Given the description of an element on the screen output the (x, y) to click on. 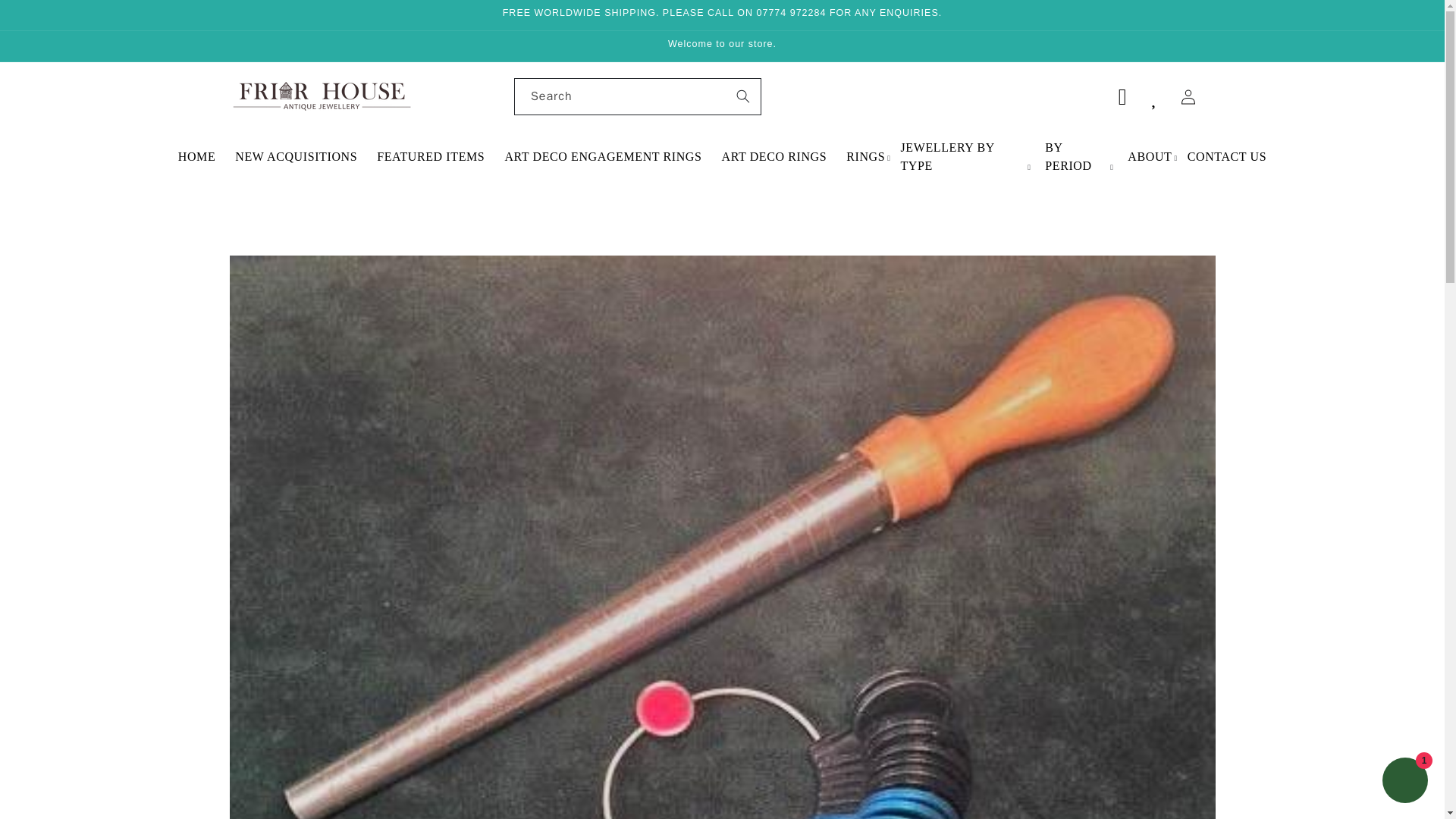
HOME (196, 157)
Skip to content (45, 17)
Cart (1121, 96)
NEW ACQUISITIONS (295, 157)
Log in (1188, 96)
ART DECO RINGS (773, 157)
FEATURED ITEMS (430, 157)
RINGS (865, 157)
JEWELLERY BY TYPE (962, 156)
ART DECO ENGAGEMENT RINGS (603, 157)
BY PERIOD (1076, 156)
Shopify online store chat (1404, 781)
